Given the description of an element on the screen output the (x, y) to click on. 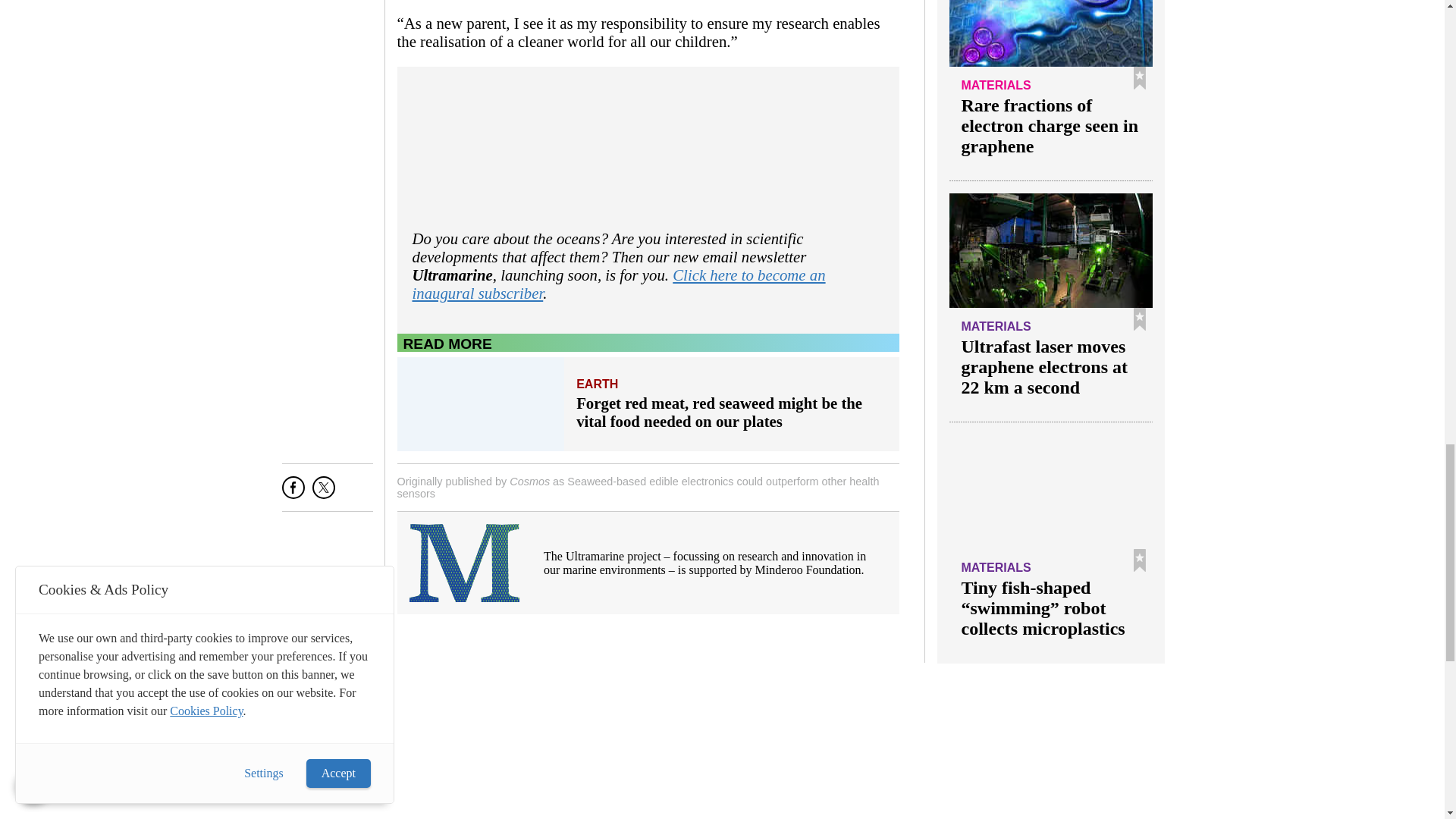
Tweet (323, 493)
Share on Facebook (293, 493)
